Given the description of an element on the screen output the (x, y) to click on. 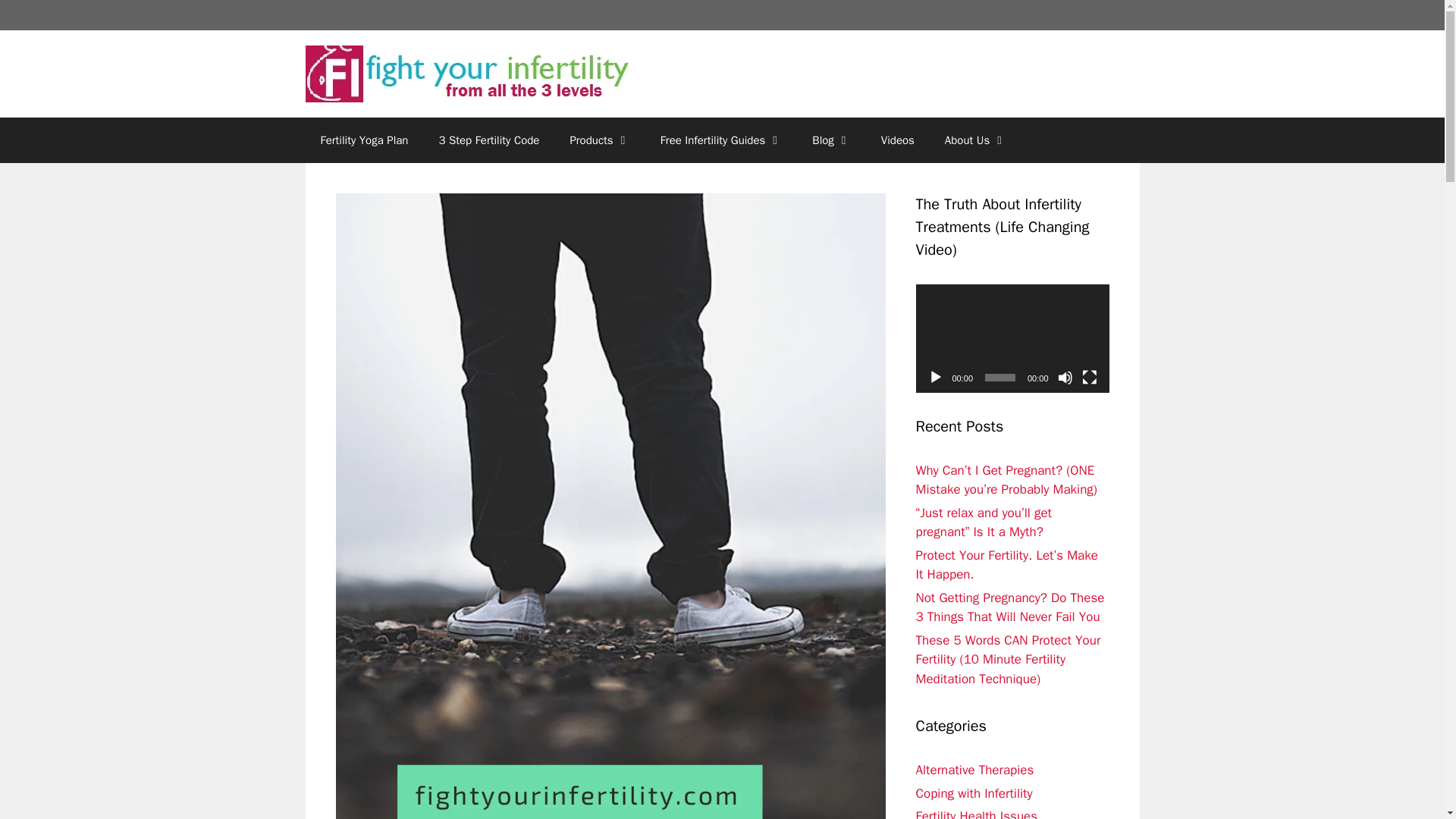
3 Step Fertility Code (488, 139)
Fullscreen (1088, 377)
Mute (1064, 377)
Free Infertility Guides (721, 139)
Products (599, 139)
Fertility Yoga Plan (363, 139)
Play (935, 377)
Blog (830, 139)
